Given the description of an element on the screen output the (x, y) to click on. 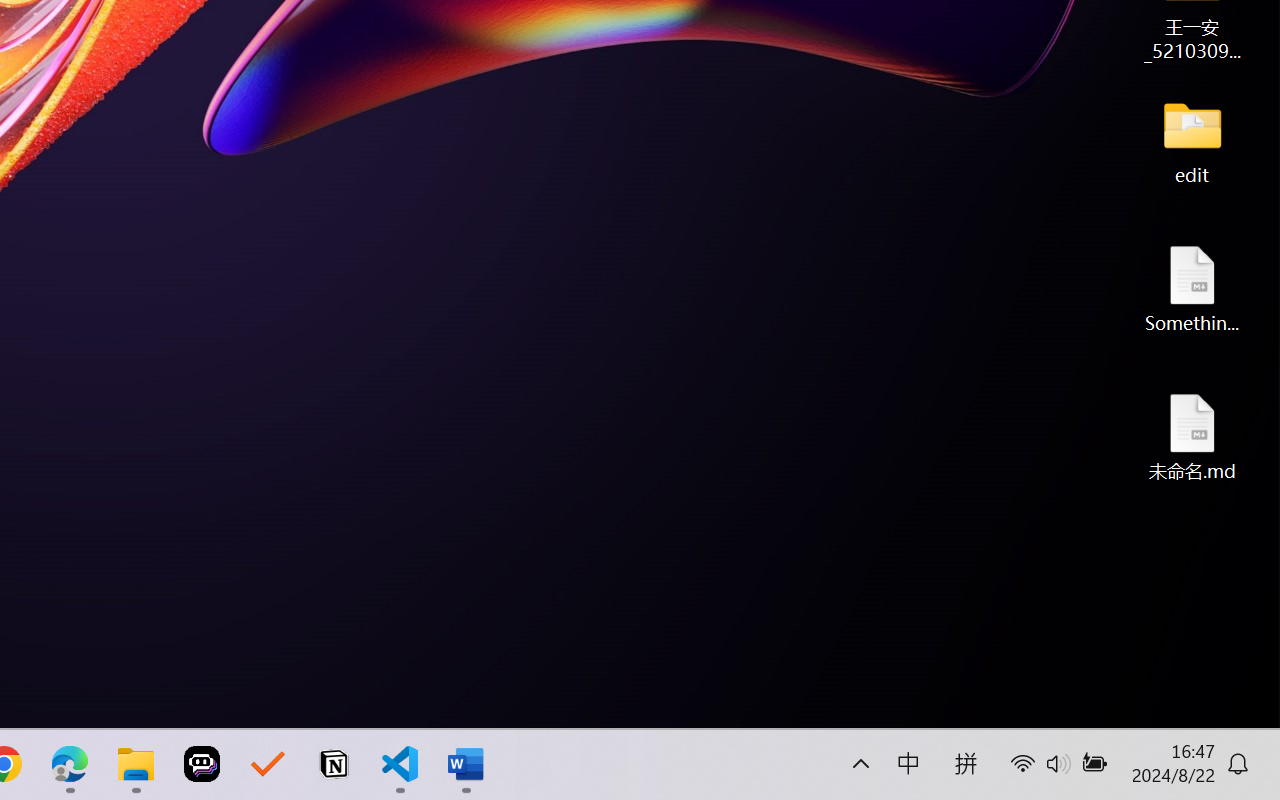
edit (1192, 140)
Something.md (1192, 288)
